Given the description of an element on the screen output the (x, y) to click on. 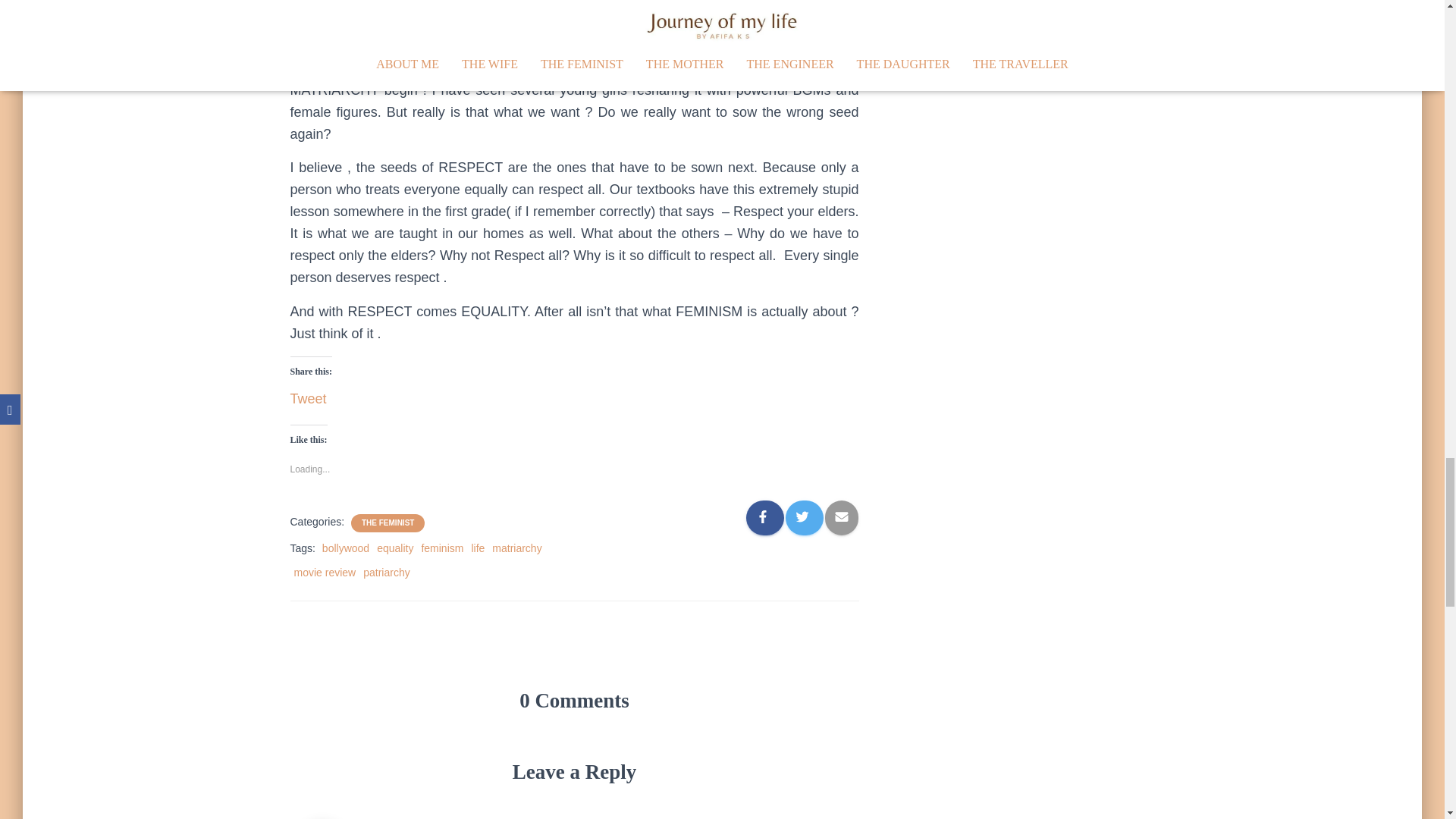
life (477, 548)
movie review (325, 572)
bollywood (345, 548)
matriarchy (516, 548)
patriarchy (385, 572)
Tweet (307, 395)
equality (395, 548)
THE FEMINIST (386, 522)
feminism (441, 548)
